Given the description of an element on the screen output the (x, y) to click on. 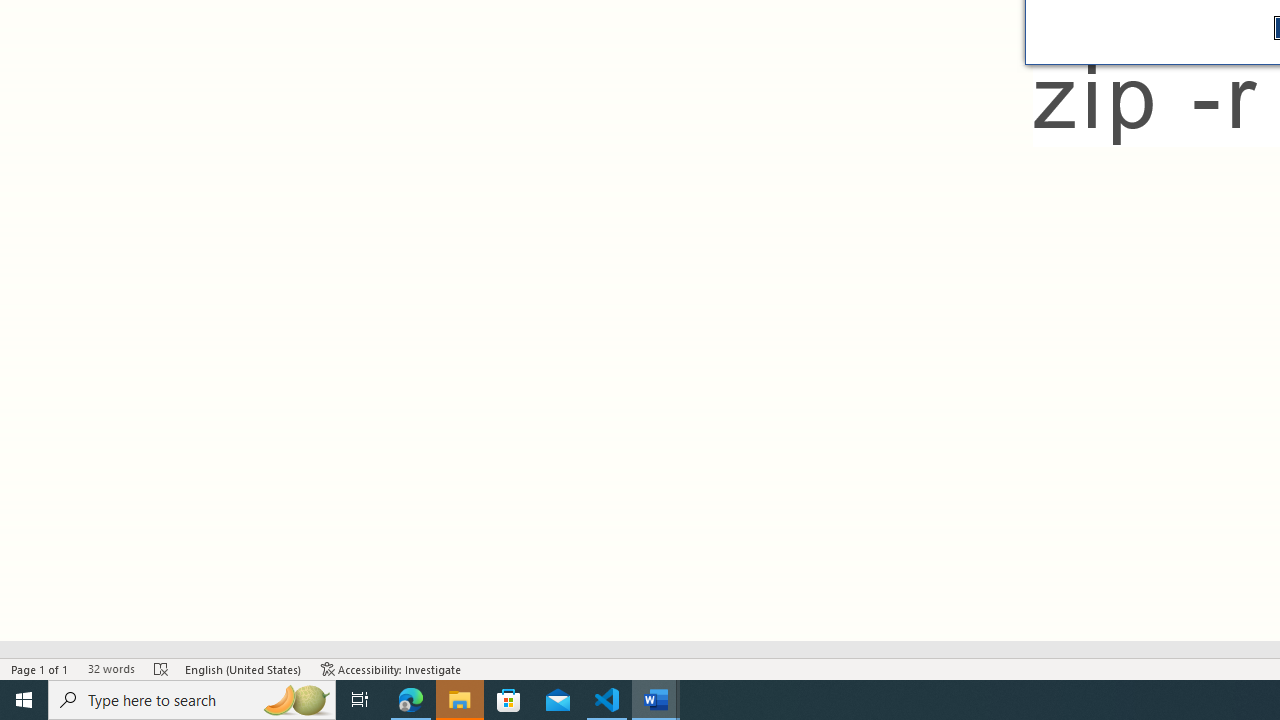
File Explorer - 1 running window (460, 699)
Word - 2 running windows (656, 699)
Page Number Page 1 of 1 (39, 668)
Word Count 32 words (111, 668)
Microsoft Edge - 1 running window (411, 699)
